Given the description of an element on the screen output the (x, y) to click on. 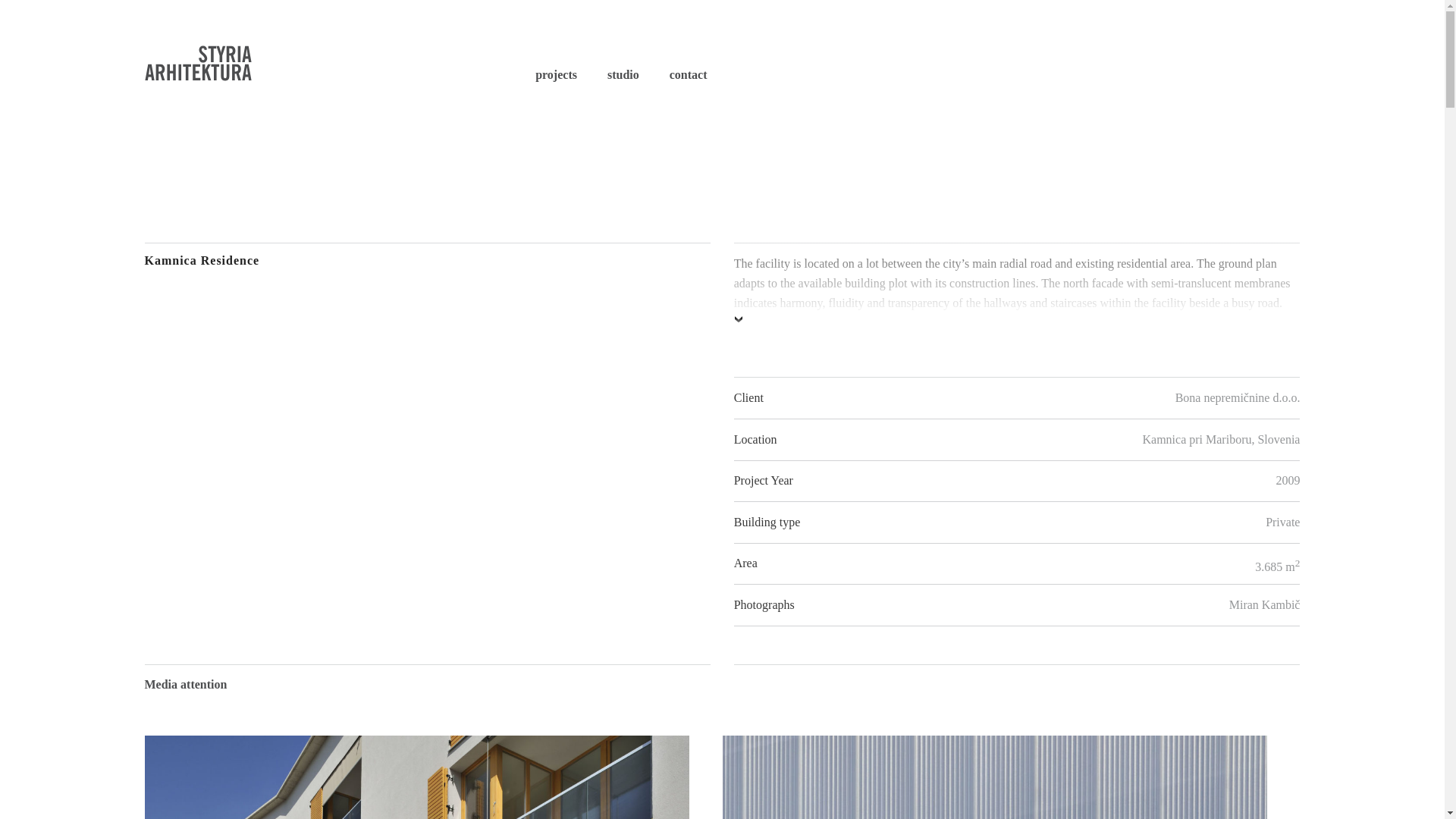
contact (688, 74)
projects (361, 52)
studio (555, 74)
